Given the description of an element on the screen output the (x, y) to click on. 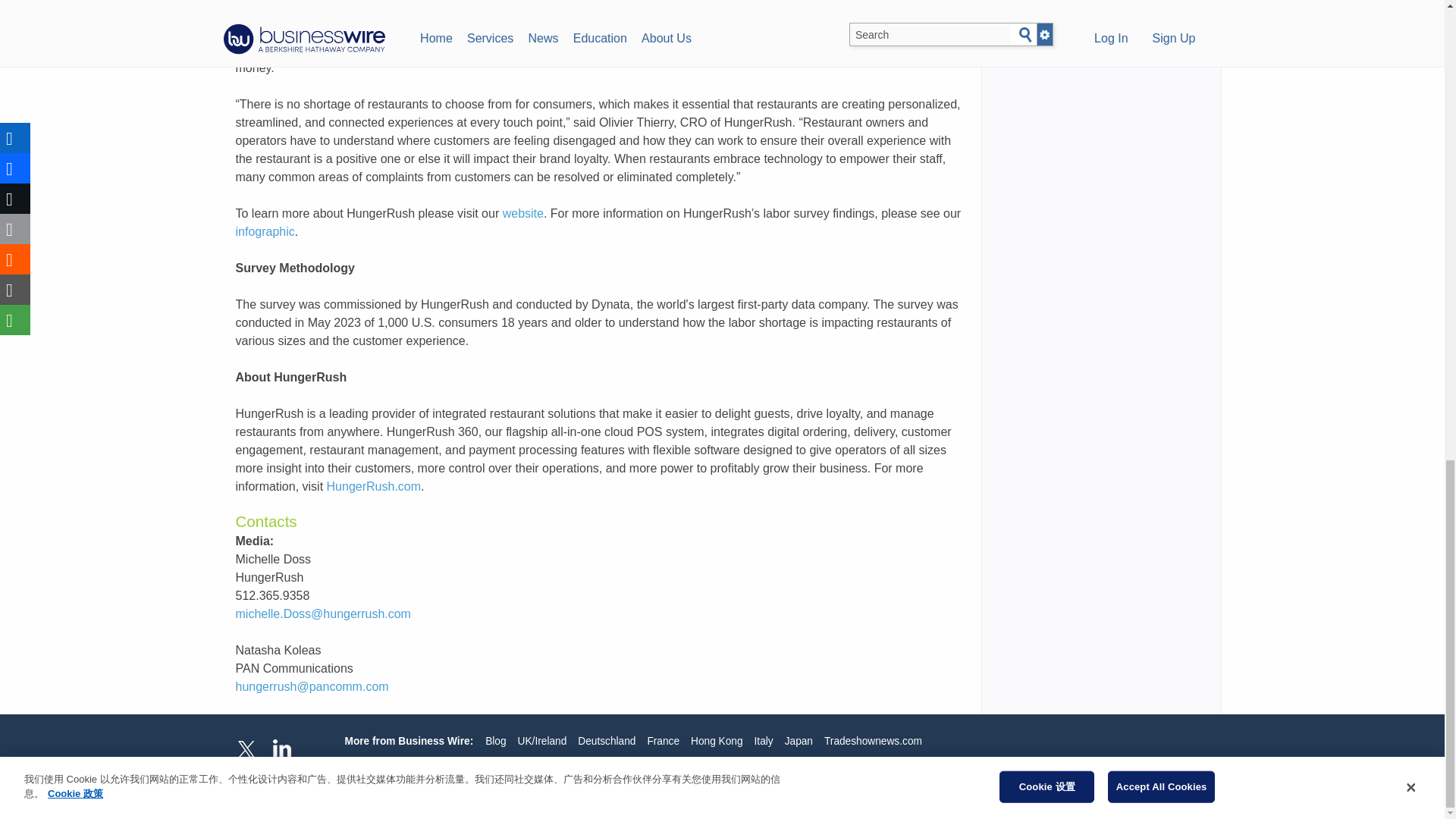
HungerRush.com (374, 486)
infographic (264, 231)
website (522, 213)
